Given the description of an element on the screen output the (x, y) to click on. 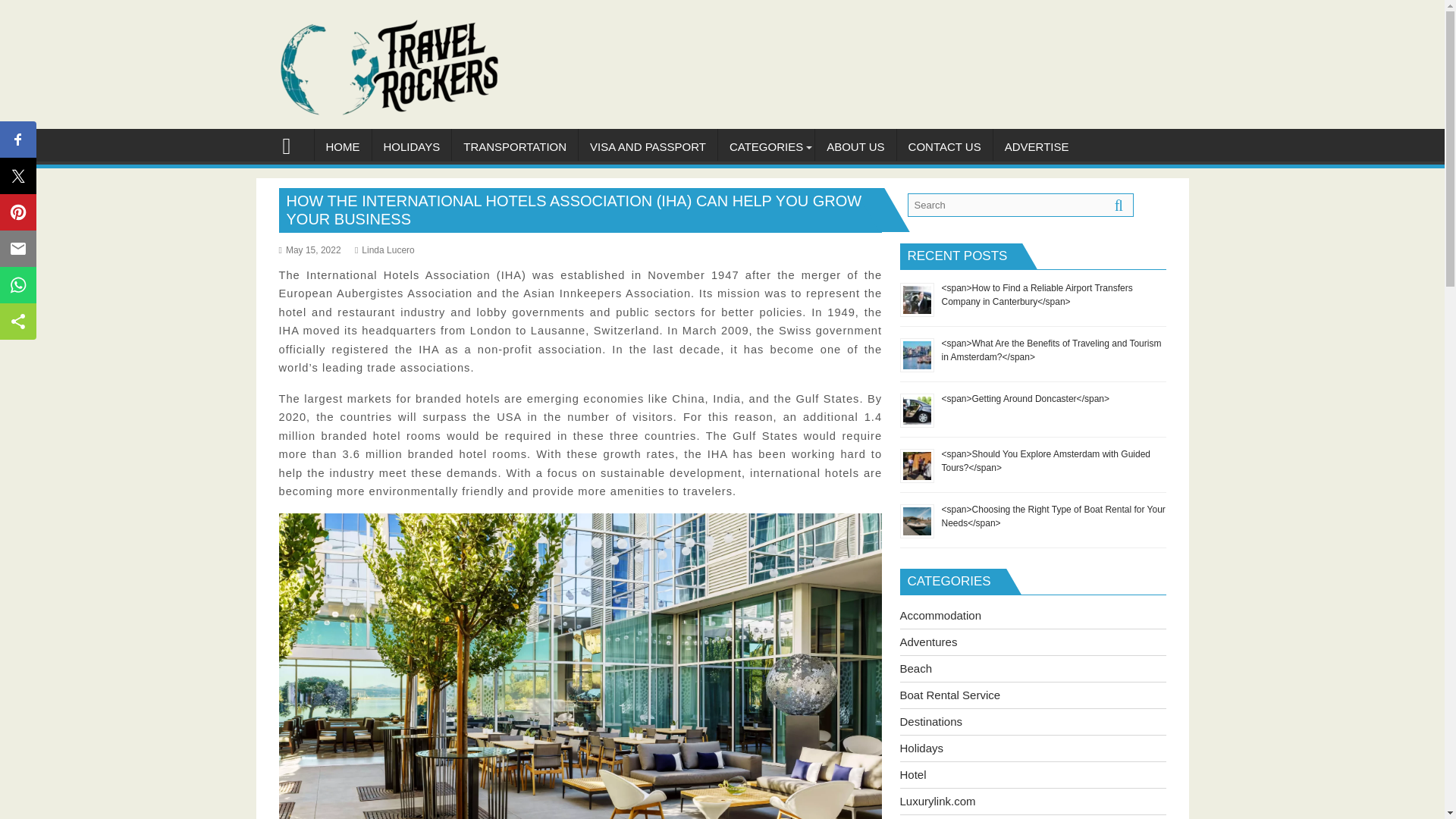
Travel Rockers (293, 144)
CATEGORIES (765, 146)
VISA AND PASSPORT (647, 146)
CONTACT US (944, 146)
ADVERTISE (1036, 146)
ABOUT US (855, 146)
HOLIDAYS (411, 146)
TRANSPORTATION (514, 146)
HOME (342, 146)
